Given the description of an element on the screen output the (x, y) to click on. 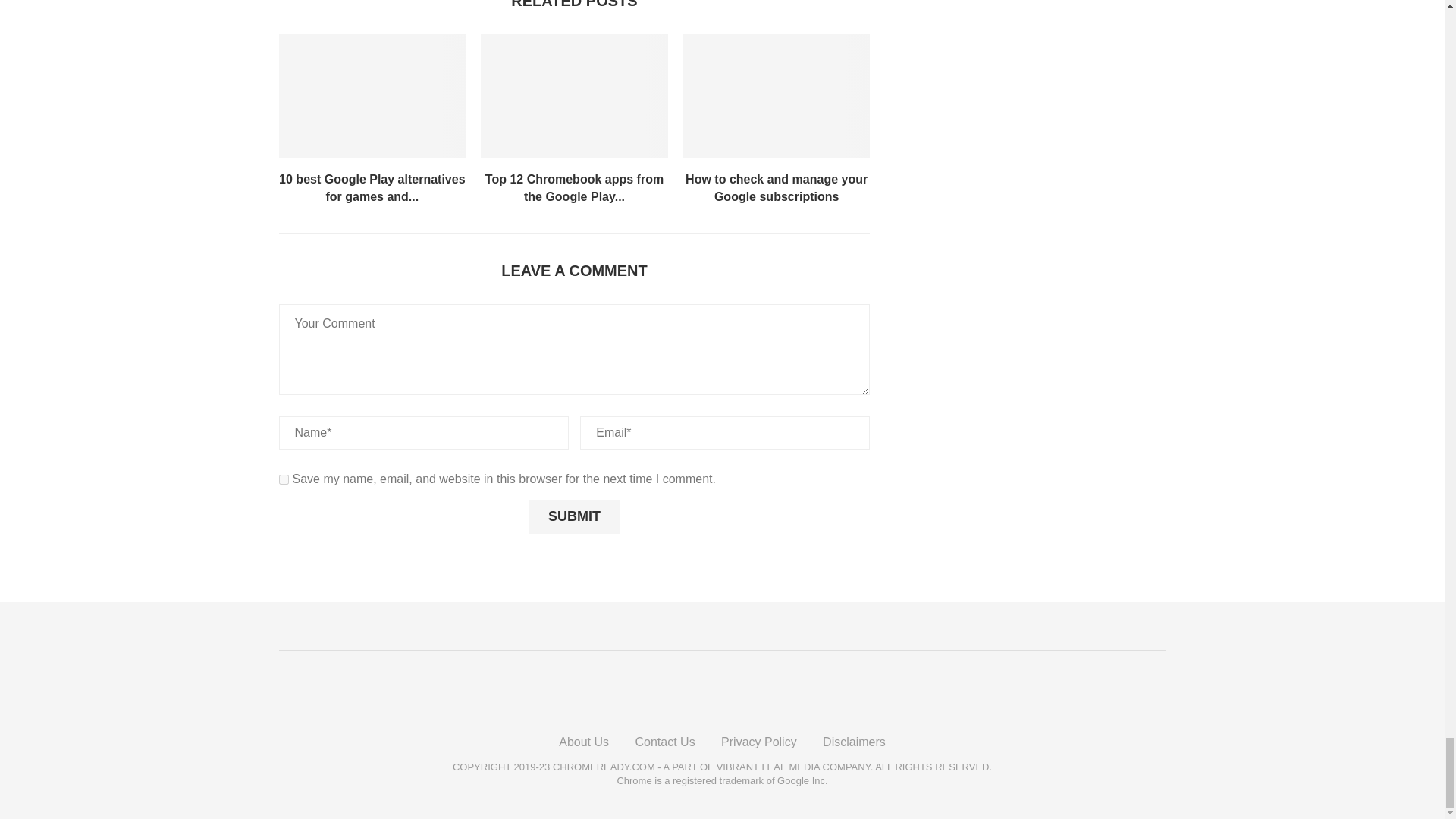
How to check and manage your Google subscriptions (776, 96)
yes (283, 479)
Submit (574, 516)
Top 12 Chromebook apps from the Google Play store in 2023 (574, 96)
10 best Google Play alternatives for games and apps (372, 96)
